Given the description of an element on the screen output the (x, y) to click on. 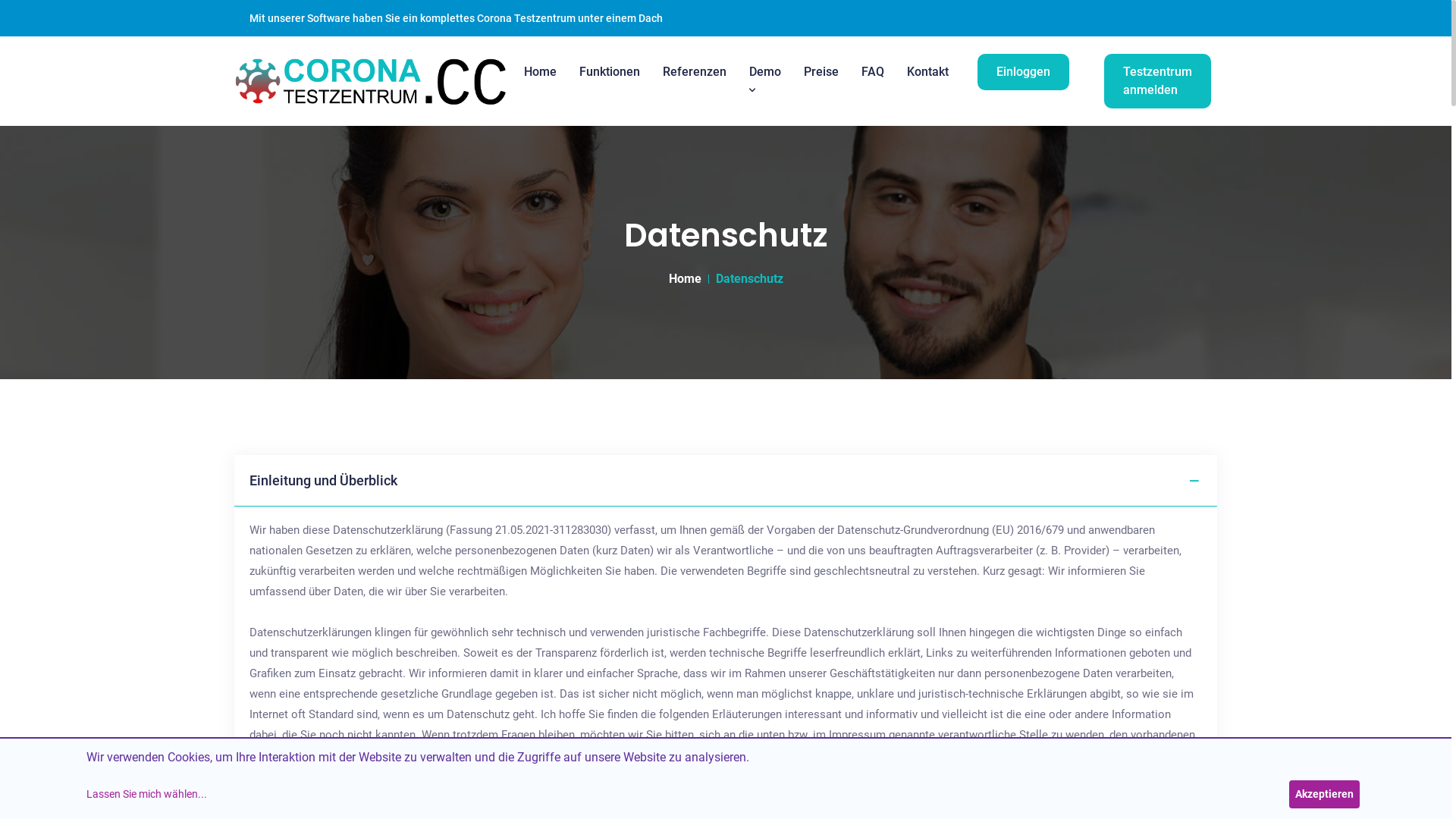
Funktionen Element type: text (609, 71)
Preise Element type: text (820, 71)
Demo Element type: text (765, 80)
Kontakt Element type: text (927, 71)
Akzeptieren Element type: text (1324, 794)
Home Element type: text (684, 278)
Referenzen Element type: text (694, 71)
Testzentrum anmelden Element type: text (1157, 80)
Einloggen Element type: text (1023, 71)
Home Element type: text (540, 71)
FAQ Element type: text (872, 71)
?
Hilfe Element type: text (1414, 781)
